Given the description of an element on the screen output the (x, y) to click on. 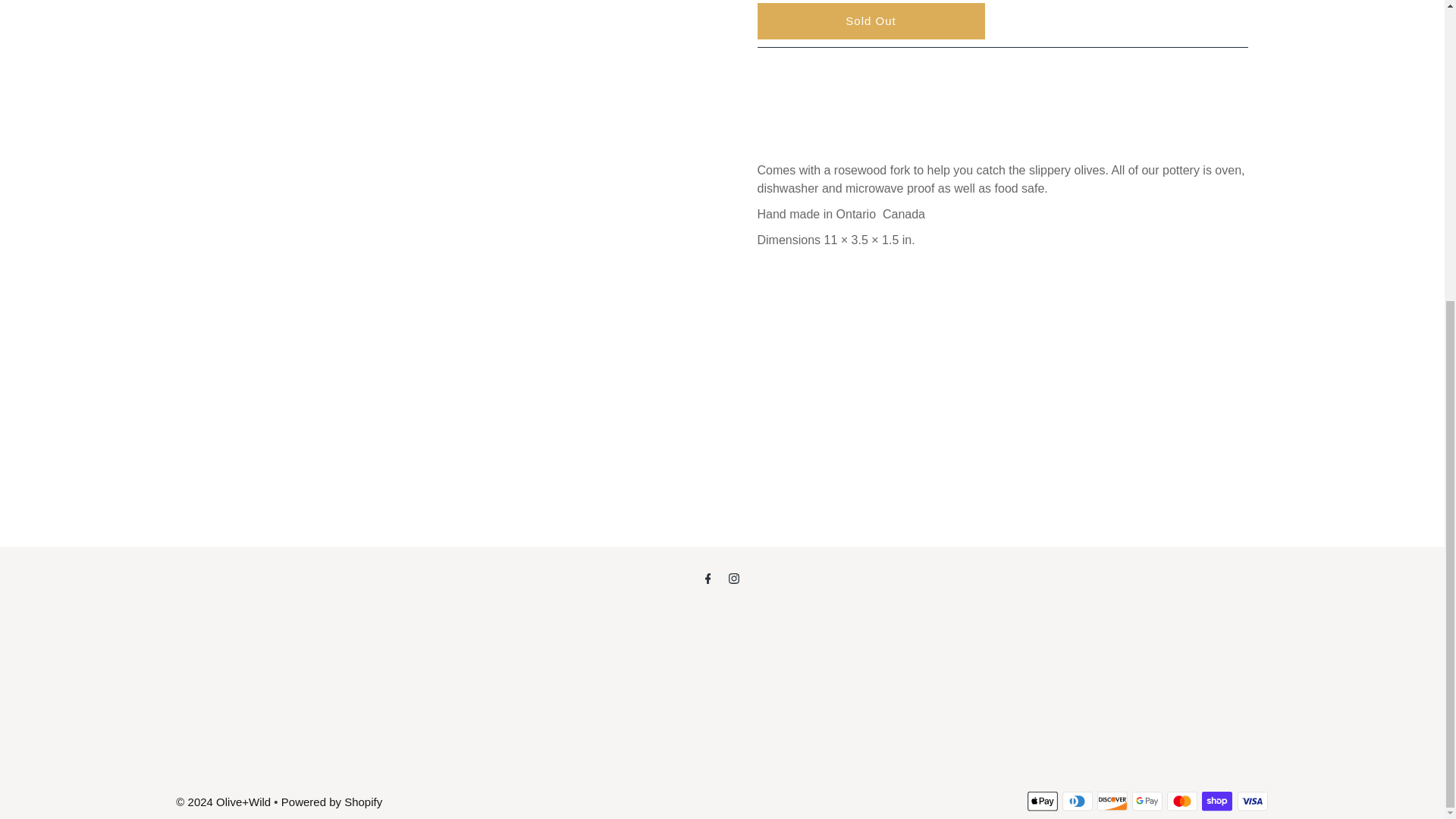
Shop Pay (1216, 800)
Diners Club (1077, 800)
Discover (1111, 800)
Mastercard (1181, 800)
Sold Out (870, 21)
Apple Pay (1042, 800)
Google Pay (1146, 800)
Visa (1252, 800)
